Given the description of an element on the screen output the (x, y) to click on. 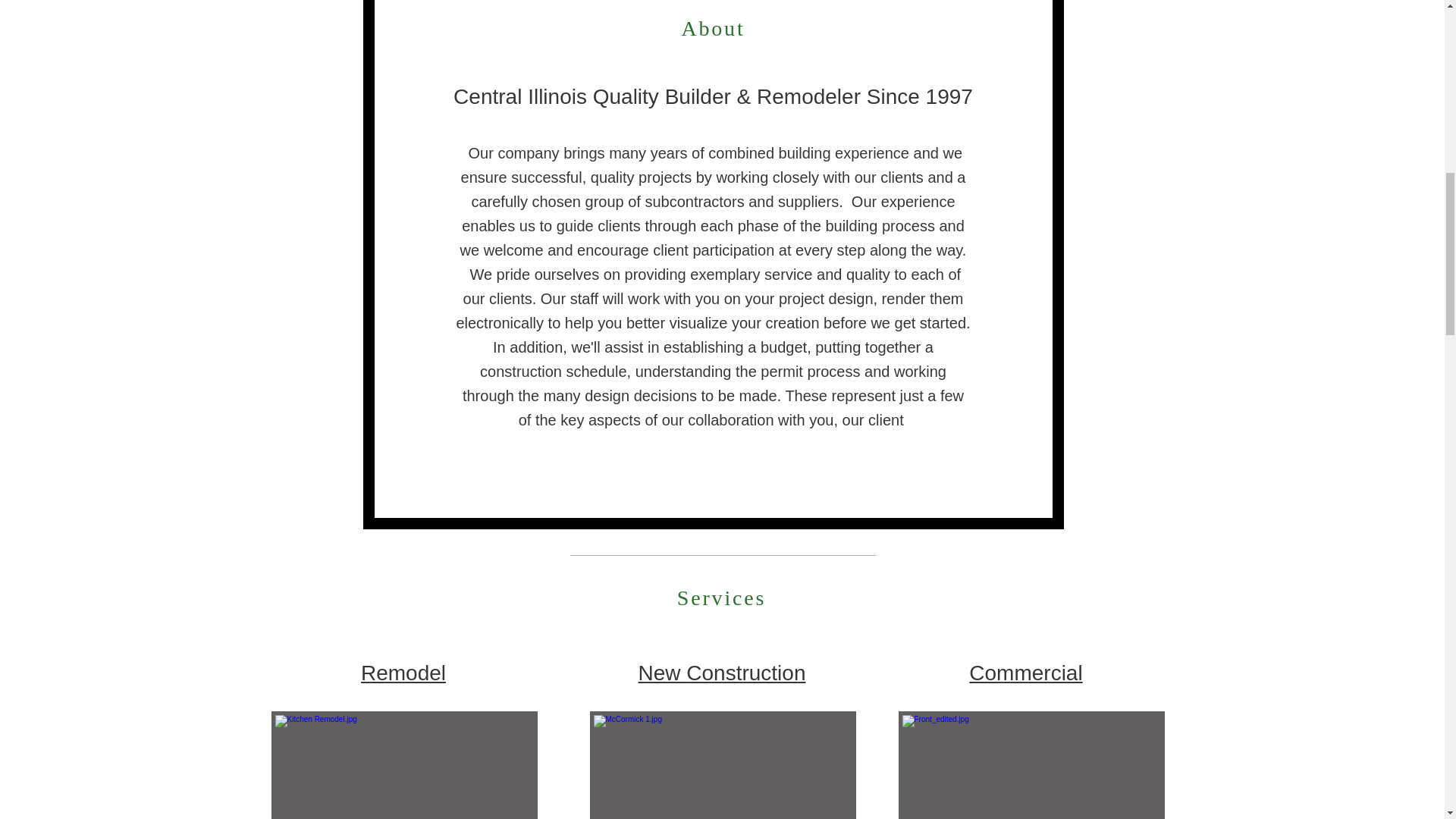
Commercial (1025, 672)
Remodel (403, 672)
New Construction (722, 672)
